Given the description of an element on the screen output the (x, y) to click on. 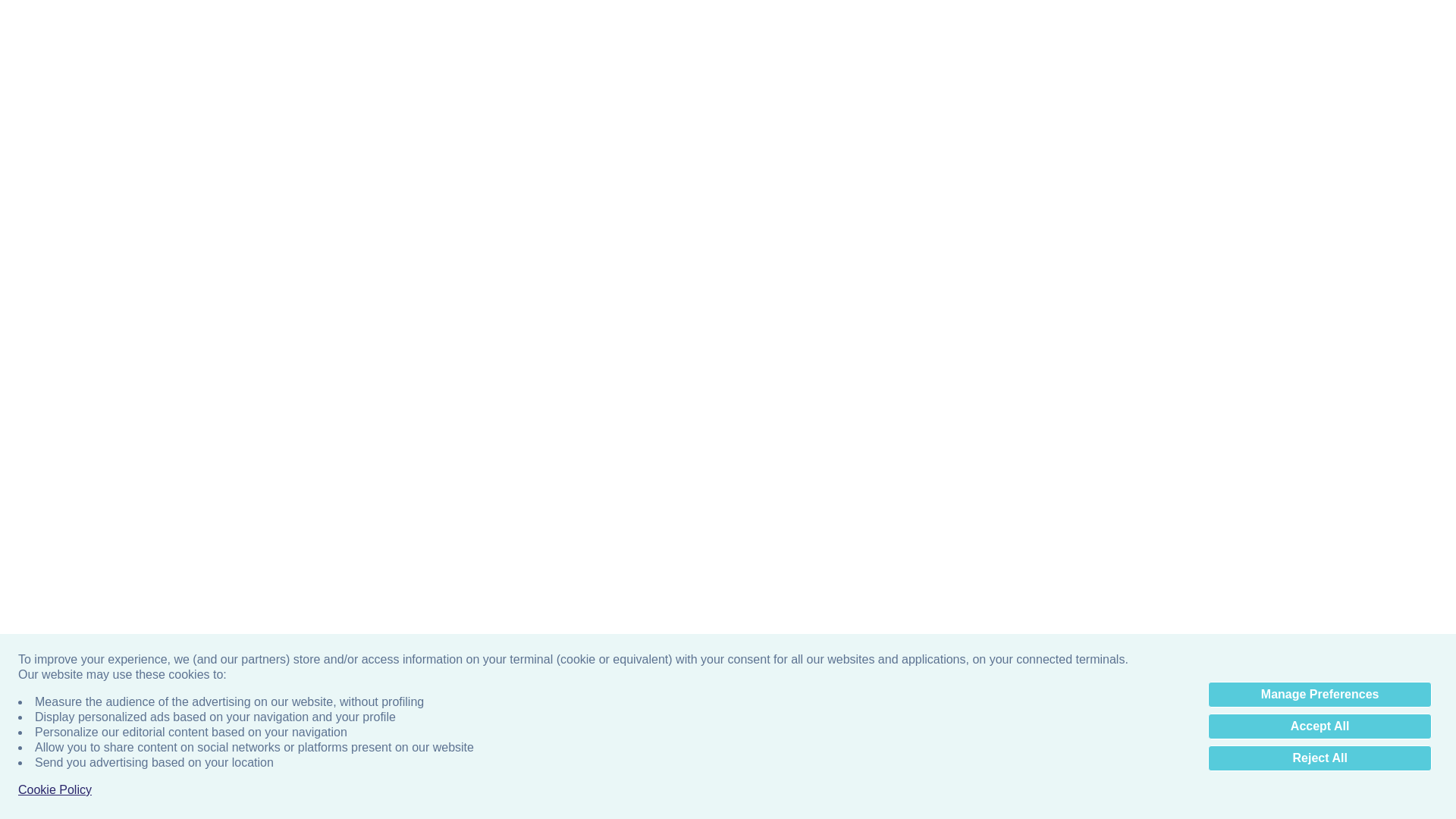
Cookie Policy (54, 84)
Accept All (1319, 21)
Reject All (1319, 53)
